Given the description of an element on the screen output the (x, y) to click on. 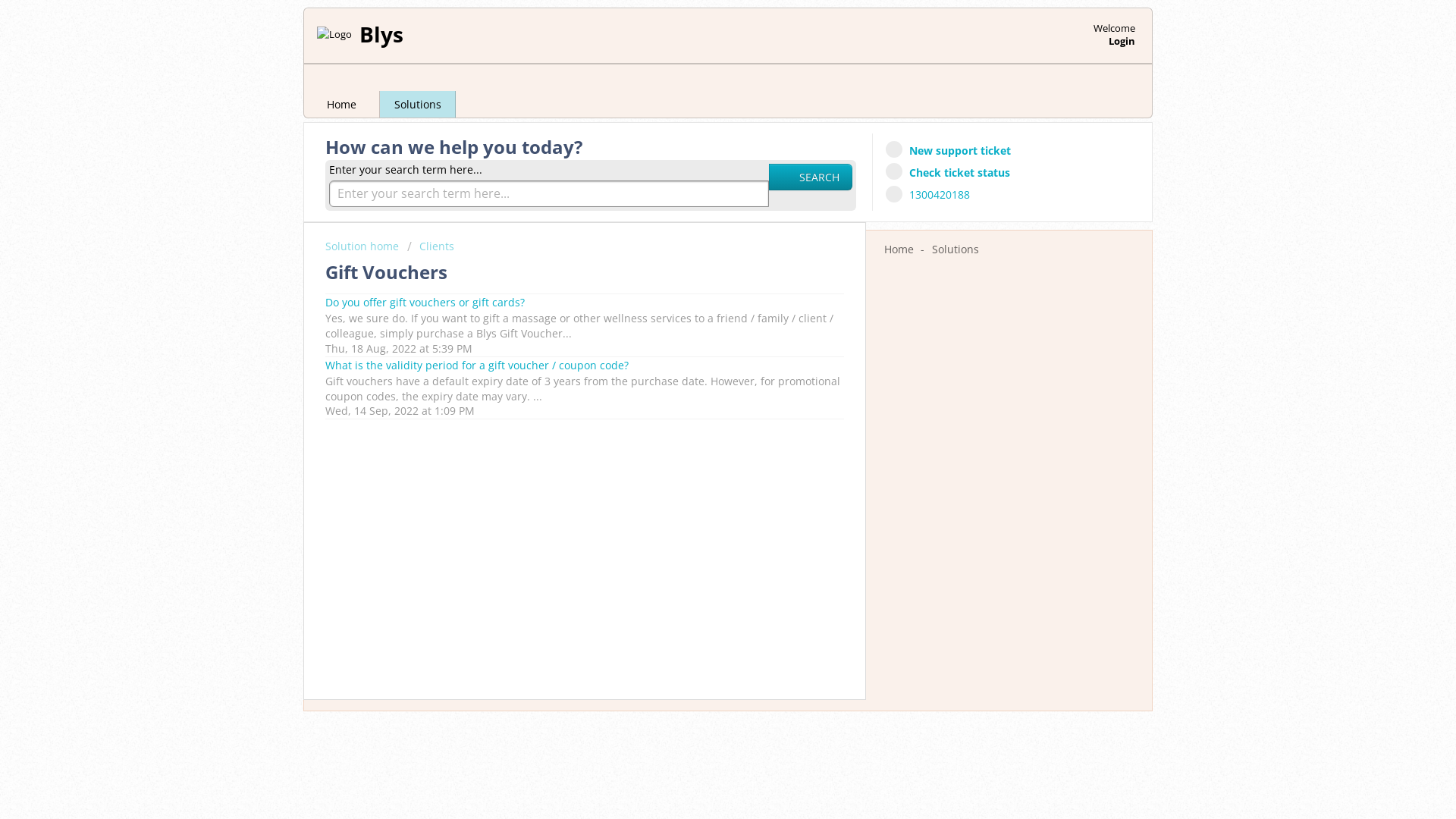
Home Element type: text (898, 248)
Solutions Element type: text (417, 104)
Check ticket status Element type: text (950, 171)
SEARCH Element type: text (810, 176)
Login Element type: text (1121, 40)
New support ticket Element type: text (950, 149)
Solutions Element type: text (955, 248)
Solution home Element type: text (363, 245)
Clients Element type: text (430, 245)
Do you offer gift vouchers or gift cards? Element type: text (424, 301)
Home Element type: text (341, 104)
1300420188 Element type: text (929, 194)
